Given the description of an element on the screen output the (x, y) to click on. 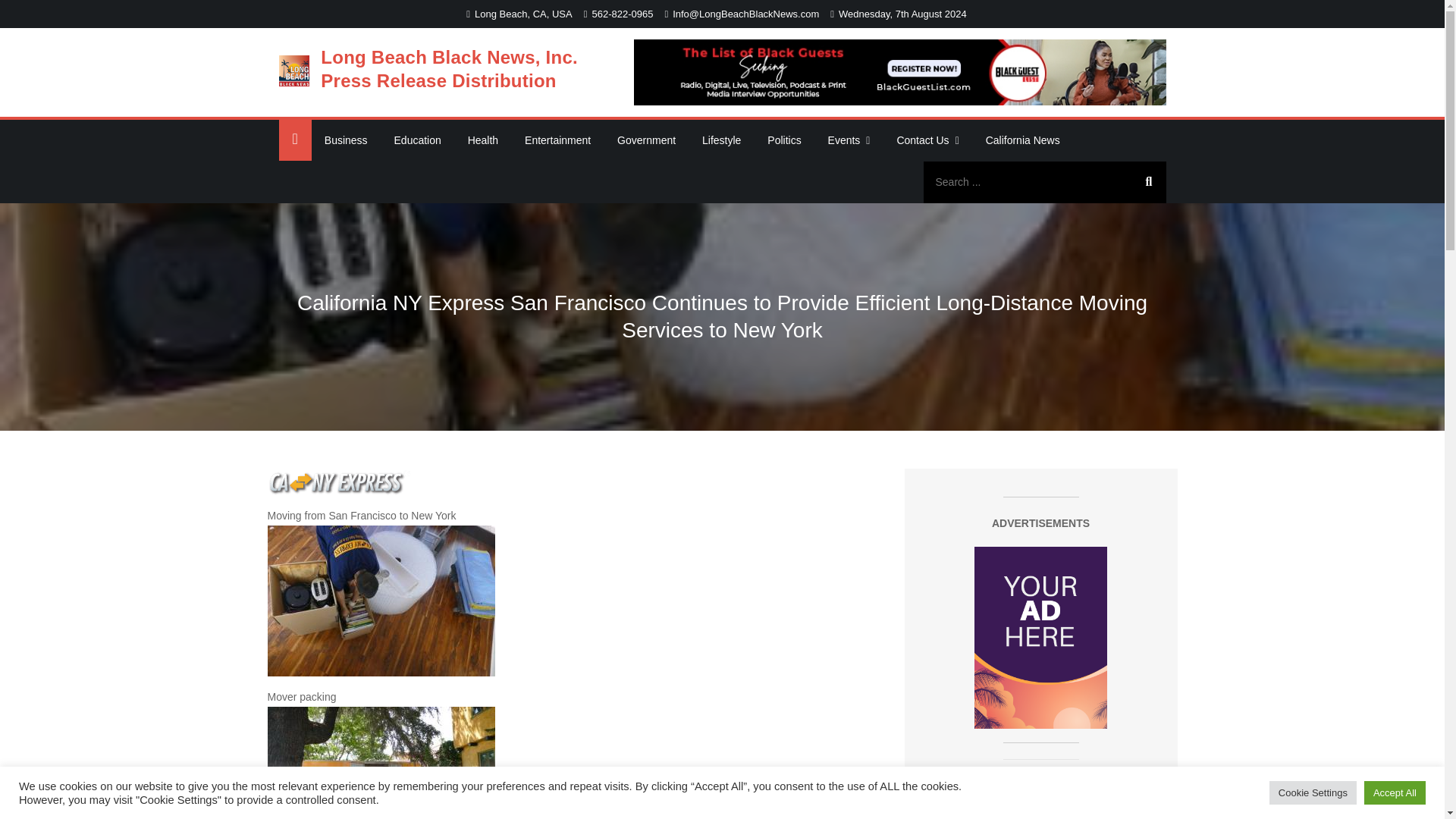
Events (848, 140)
Search for: (1044, 182)
Government (646, 139)
Politics (783, 139)
562-822-0965 (618, 13)
Health (482, 139)
Business (346, 139)
Contact Us (927, 140)
Education (417, 139)
California News (1022, 139)
